Given the description of an element on the screen output the (x, y) to click on. 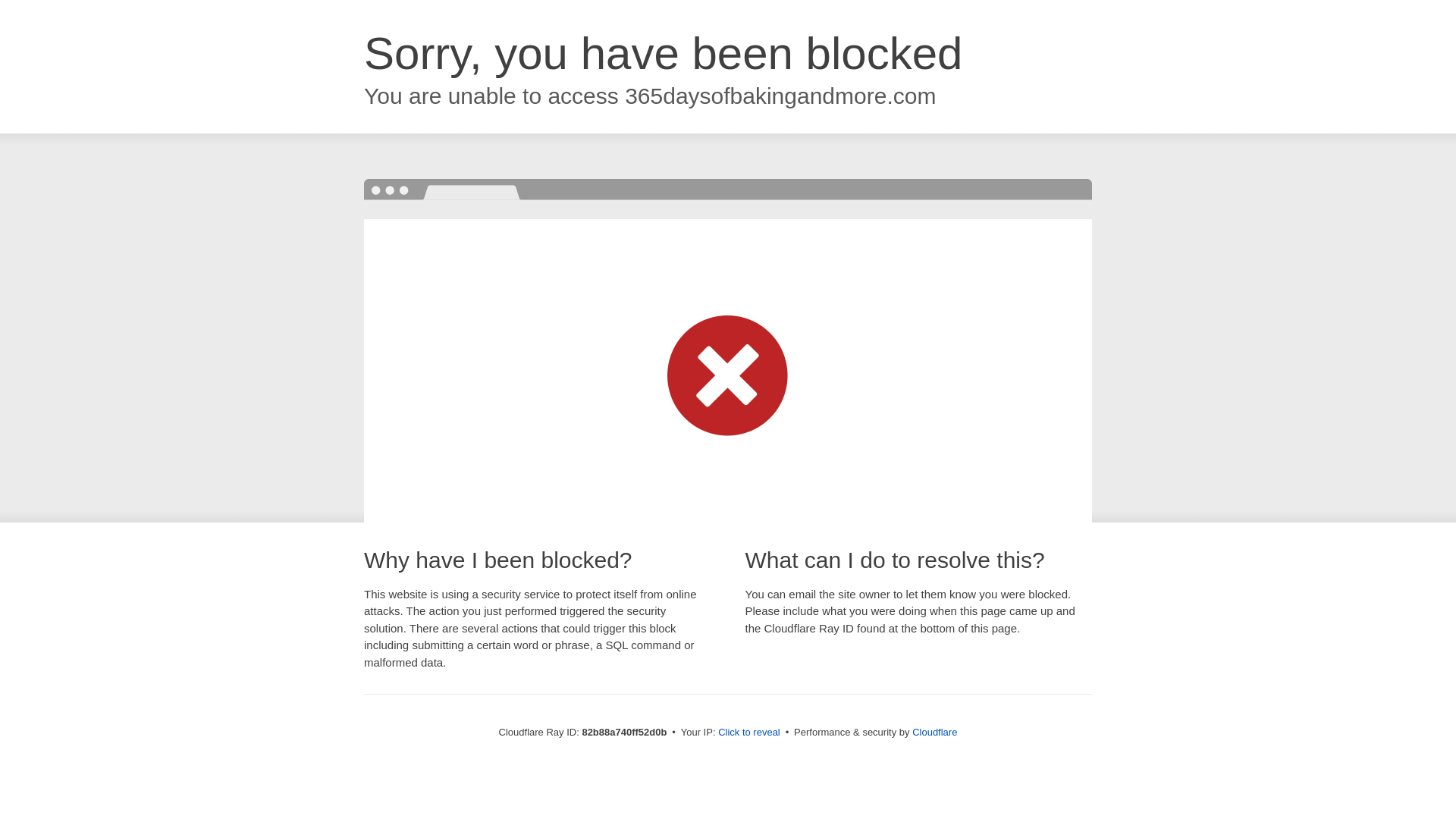
Click to reveal Element type: text (749, 732)
Cloudflare Element type: text (934, 731)
